Given the description of an element on the screen output the (x, y) to click on. 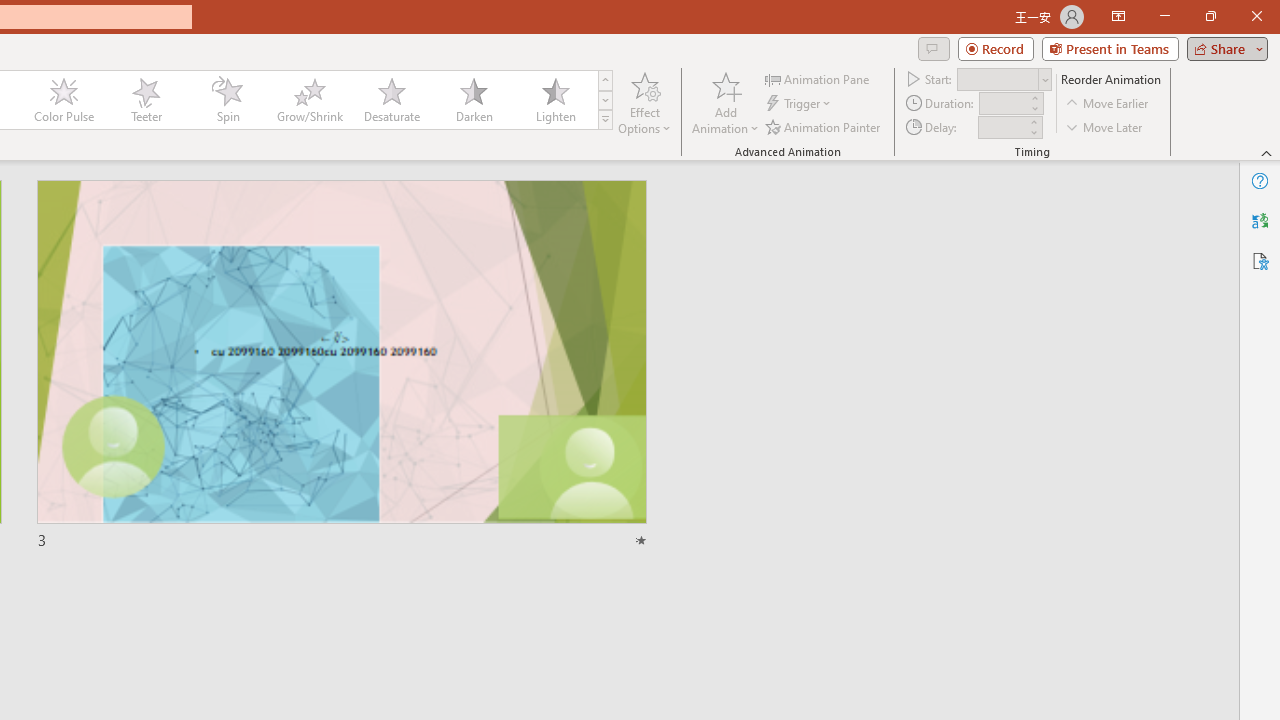
Animation Duration (1003, 103)
Grow/Shrink (309, 100)
Darken (473, 100)
Trigger (799, 103)
Move Later (1105, 126)
Teeter (145, 100)
